Given the description of an element on the screen output the (x, y) to click on. 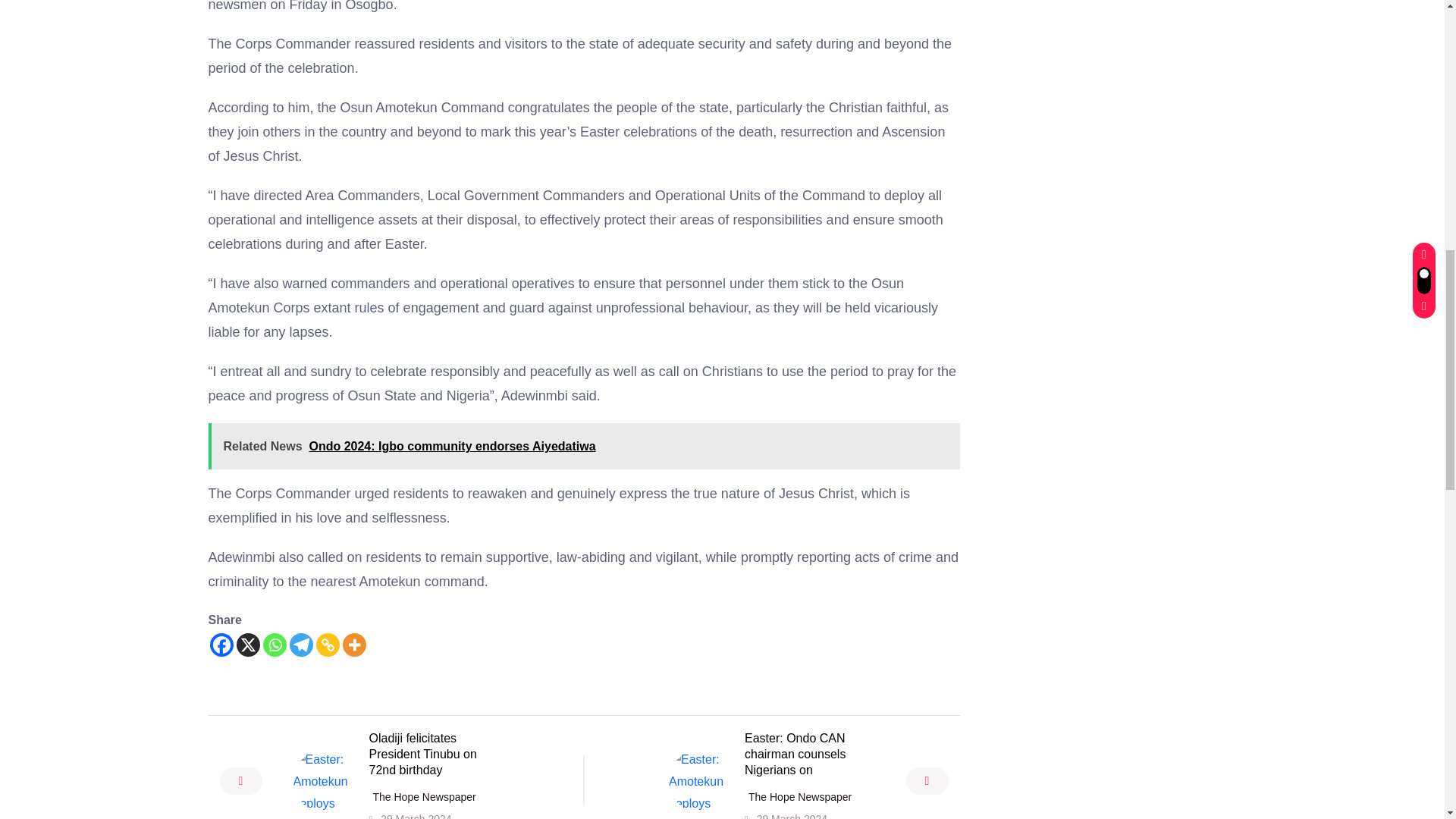
Whatsapp (273, 644)
More (354, 644)
Telegram (301, 644)
Facebook (220, 644)
X (247, 644)
Copy Link (327, 644)
